Given the description of an element on the screen output the (x, y) to click on. 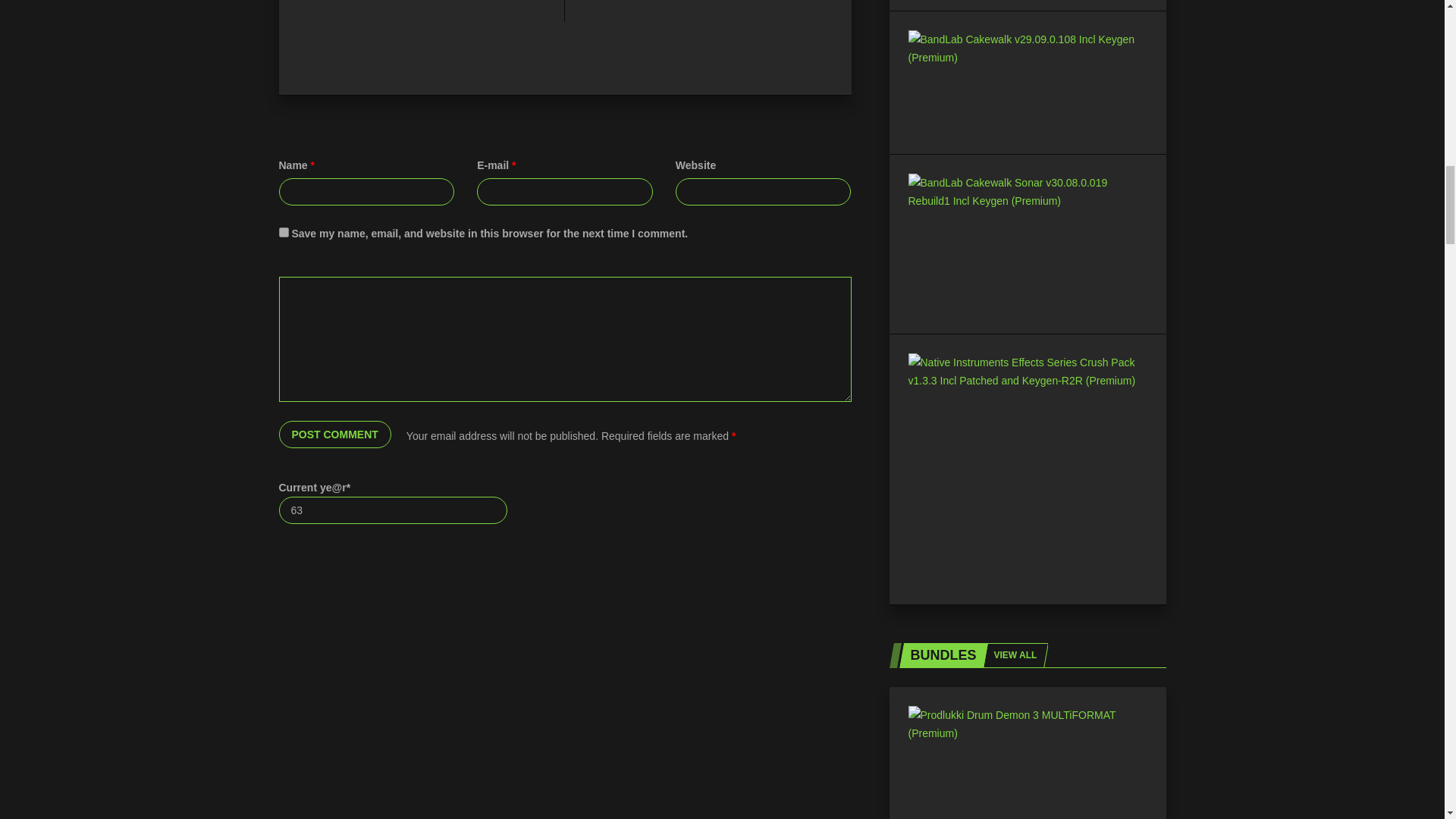
Post comment (335, 433)
yes (283, 232)
63 (393, 510)
